Given the description of an element on the screen output the (x, y) to click on. 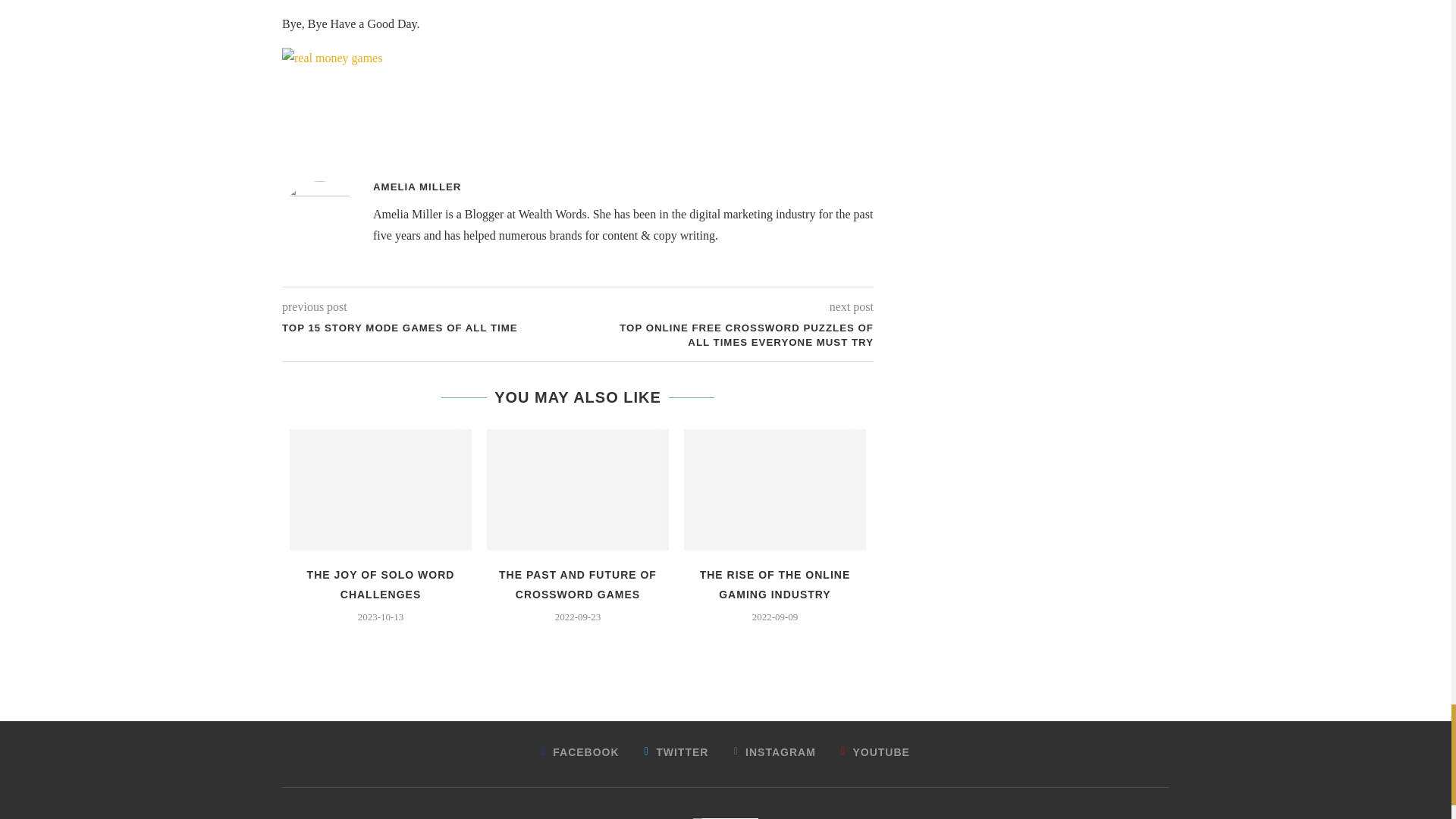
THE RISE OF THE ONLINE GAMING INDUSTRY (775, 584)
THE JOY OF SOLO WORD CHALLENGES (380, 584)
The Rise of the Online Gaming Industry (775, 489)
The Past and Future of Crossword Games (577, 489)
TOP 15 STORY MODE GAMES OF ALL TIME (430, 328)
The Joy of Solo Word Challenges (380, 489)
THE PAST AND FUTURE OF CROSSWORD GAMES (577, 584)
